Given the description of an element on the screen output the (x, y) to click on. 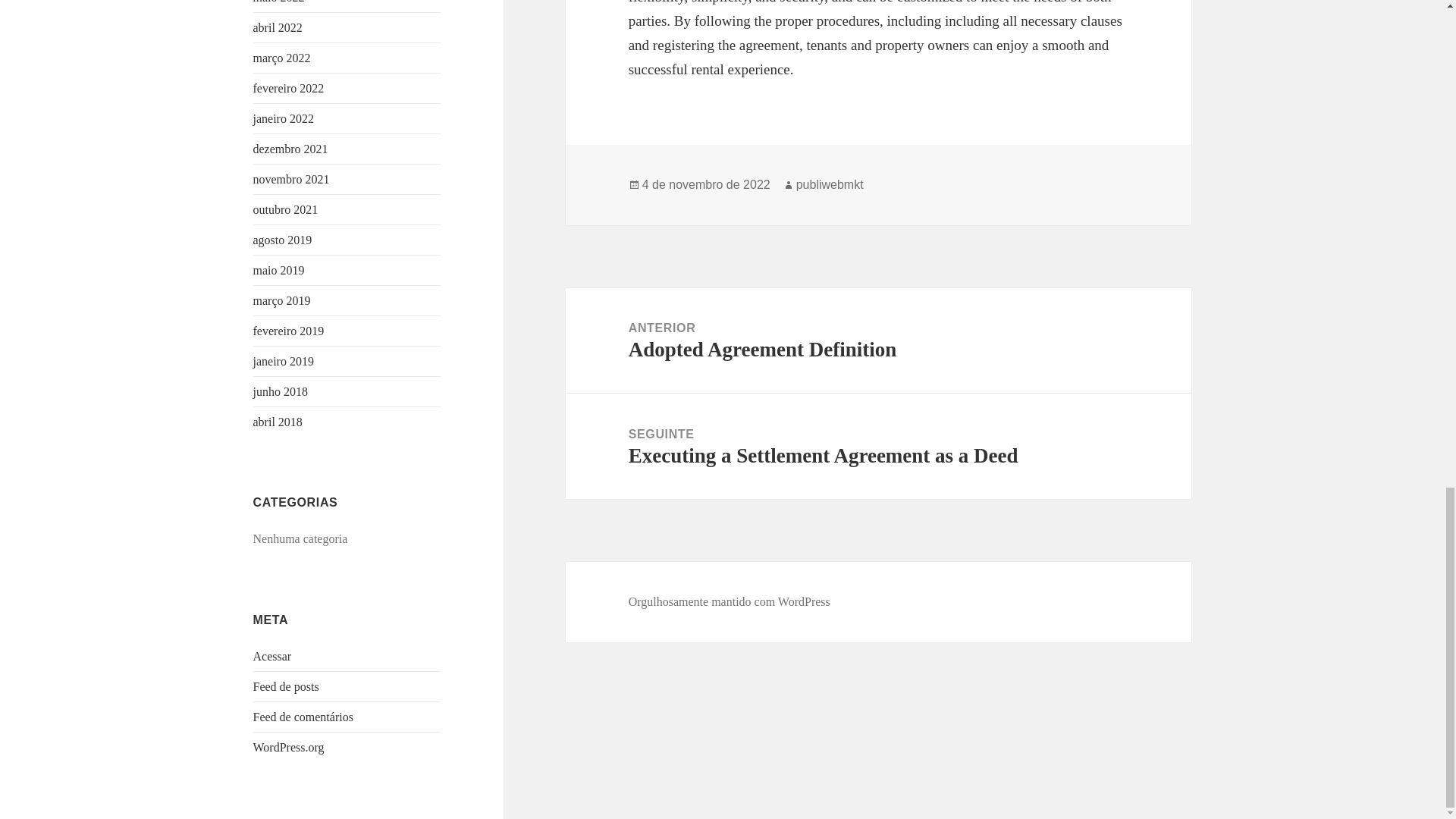
outubro 2021 (285, 209)
novembro 2021 (291, 178)
dezembro 2021 (291, 148)
janeiro 2019 (283, 360)
maio 2019 (278, 269)
abril 2018 (277, 421)
abril 2022 (277, 27)
fevereiro 2019 (288, 330)
junho 2018 (280, 391)
maio 2022 (278, 2)
